Given the description of an element on the screen output the (x, y) to click on. 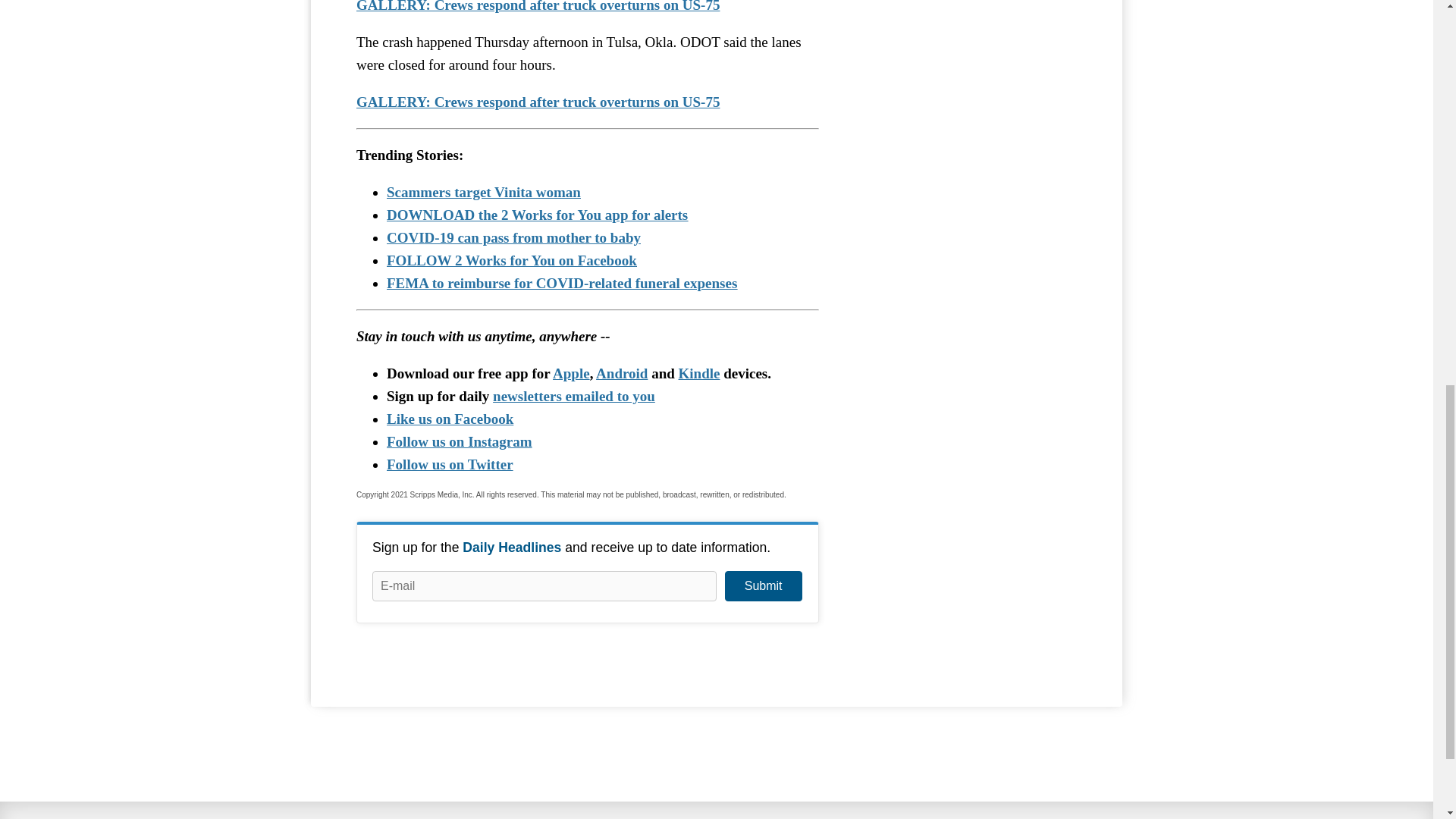
Submit (763, 585)
